Given the description of an element on the screen output the (x, y) to click on. 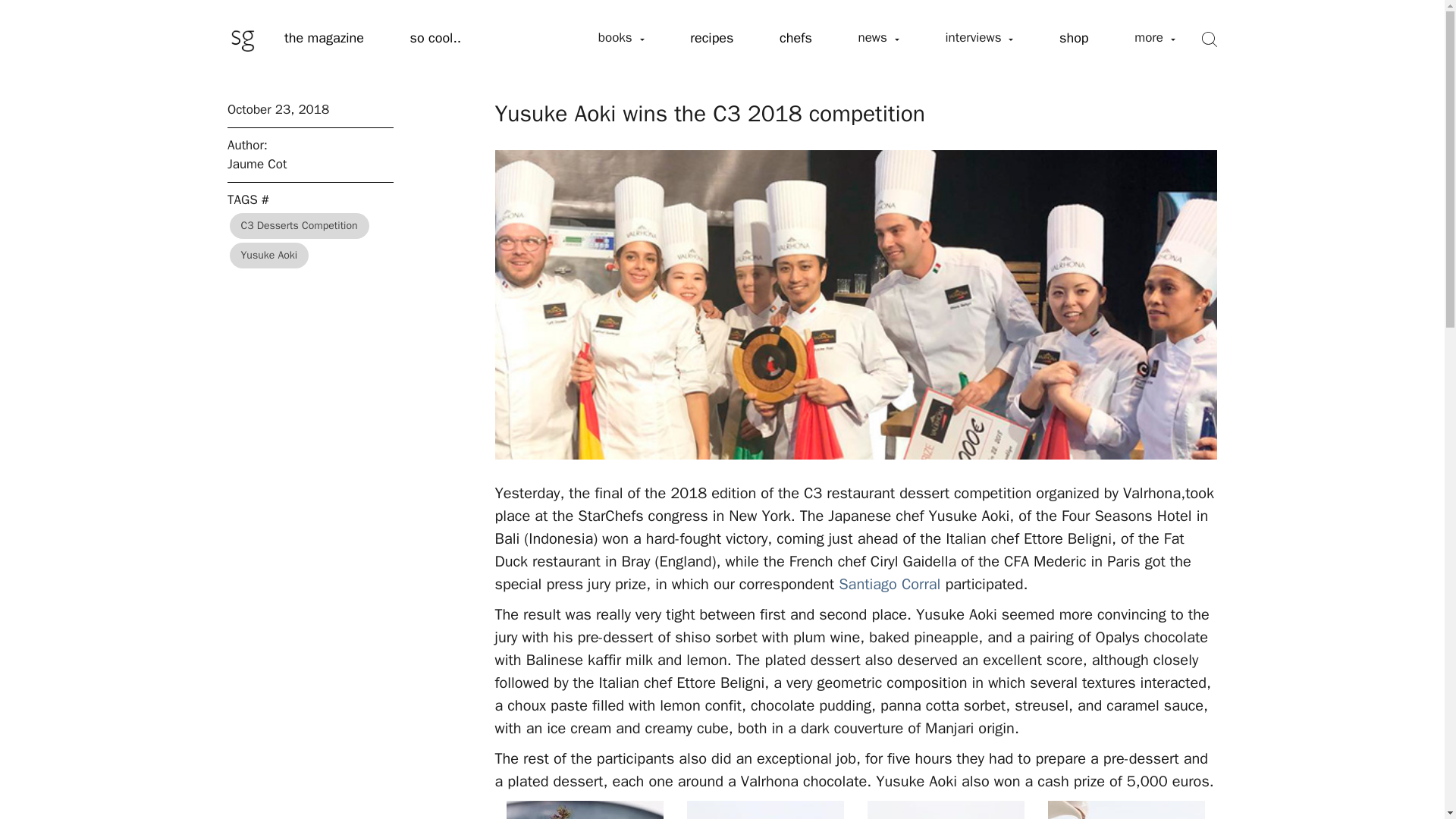
shop (1073, 38)
Yusuke Aoki (269, 254)
recipes (710, 38)
interviews (978, 37)
chefs (795, 38)
Santiago Corral (889, 583)
the magazine (324, 38)
so cool.. (435, 38)
The Magazine (324, 38)
books (620, 37)
